Given the description of an element on the screen output the (x, y) to click on. 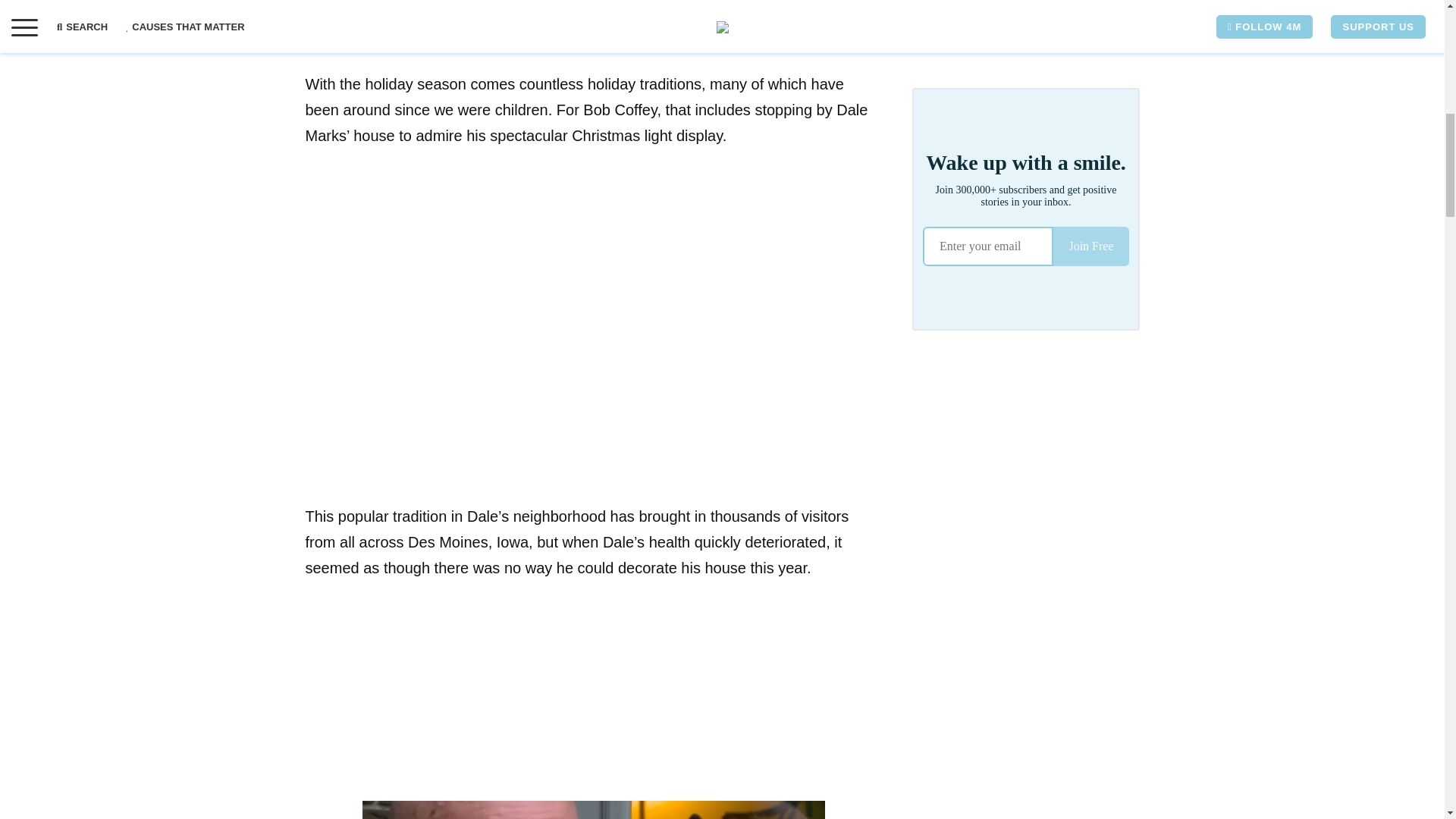
Click to share on Facebook (316, 14)
Click to share on Pinterest (377, 14)
Click to share on Twitter (346, 14)
